Given the description of an element on the screen output the (x, y) to click on. 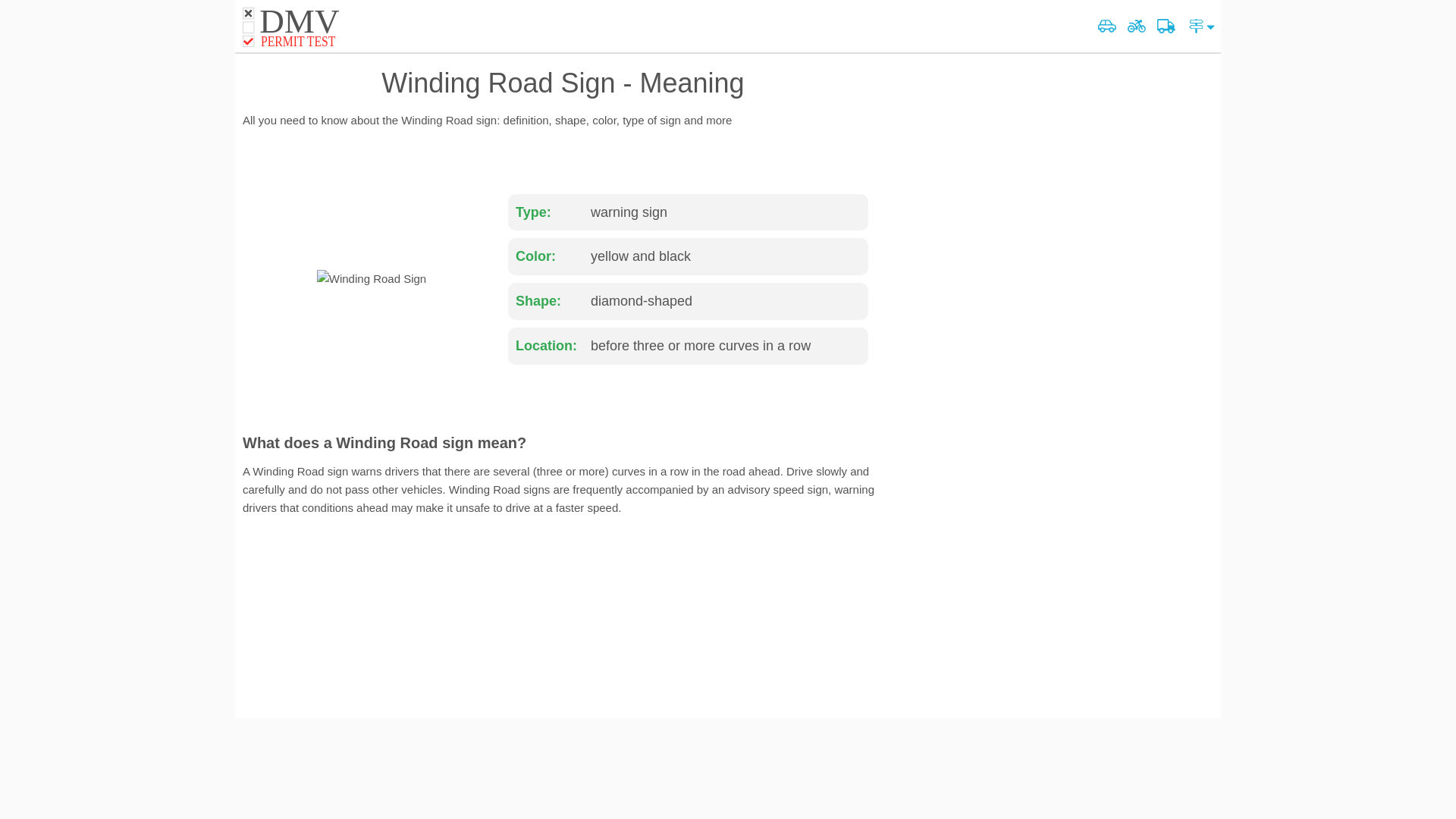
Winding Road Sign (299, 28)
